Given the description of an element on the screen output the (x, y) to click on. 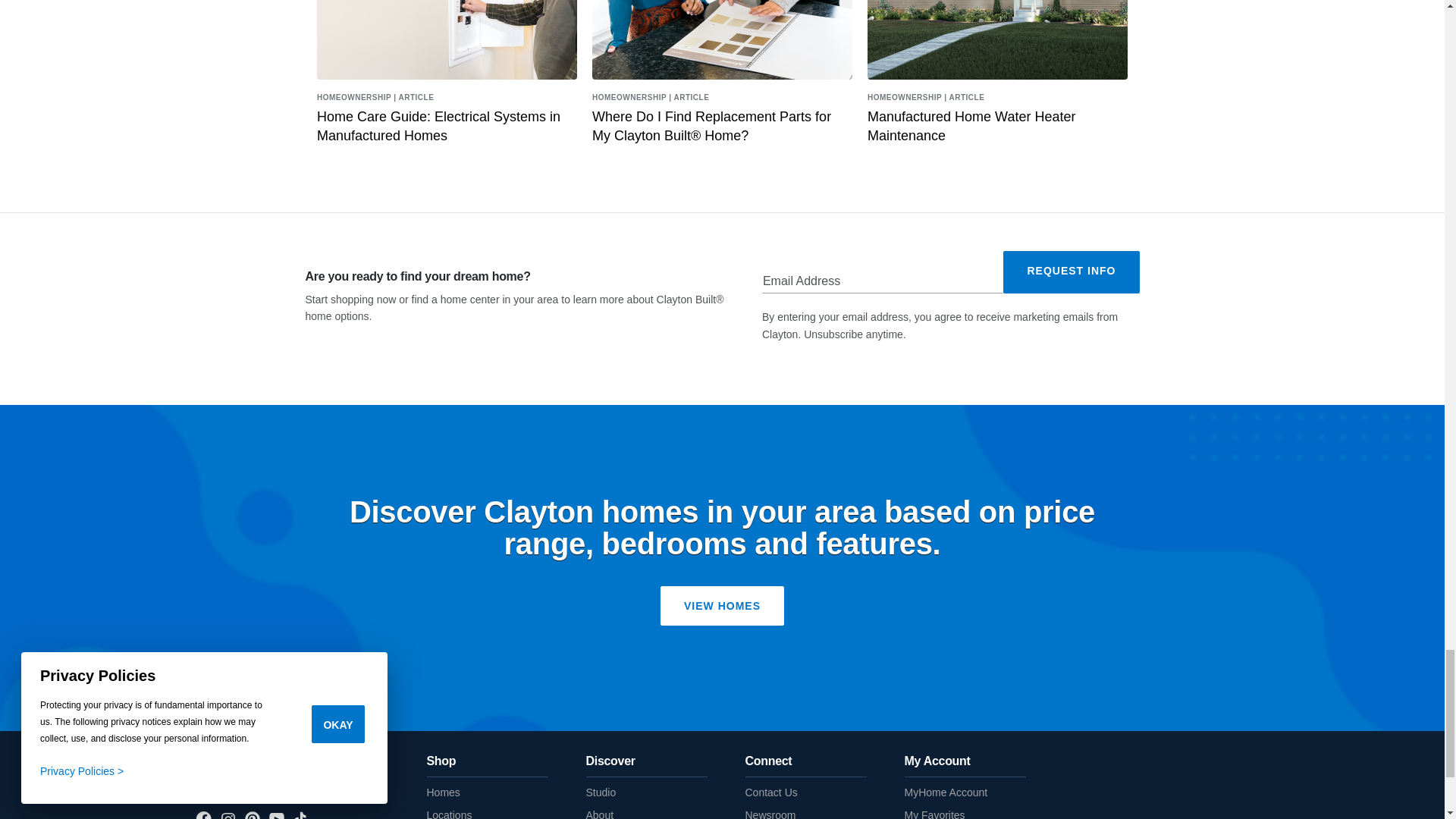
Clayton Homes (228, 767)
